Given the description of an element on the screen output the (x, y) to click on. 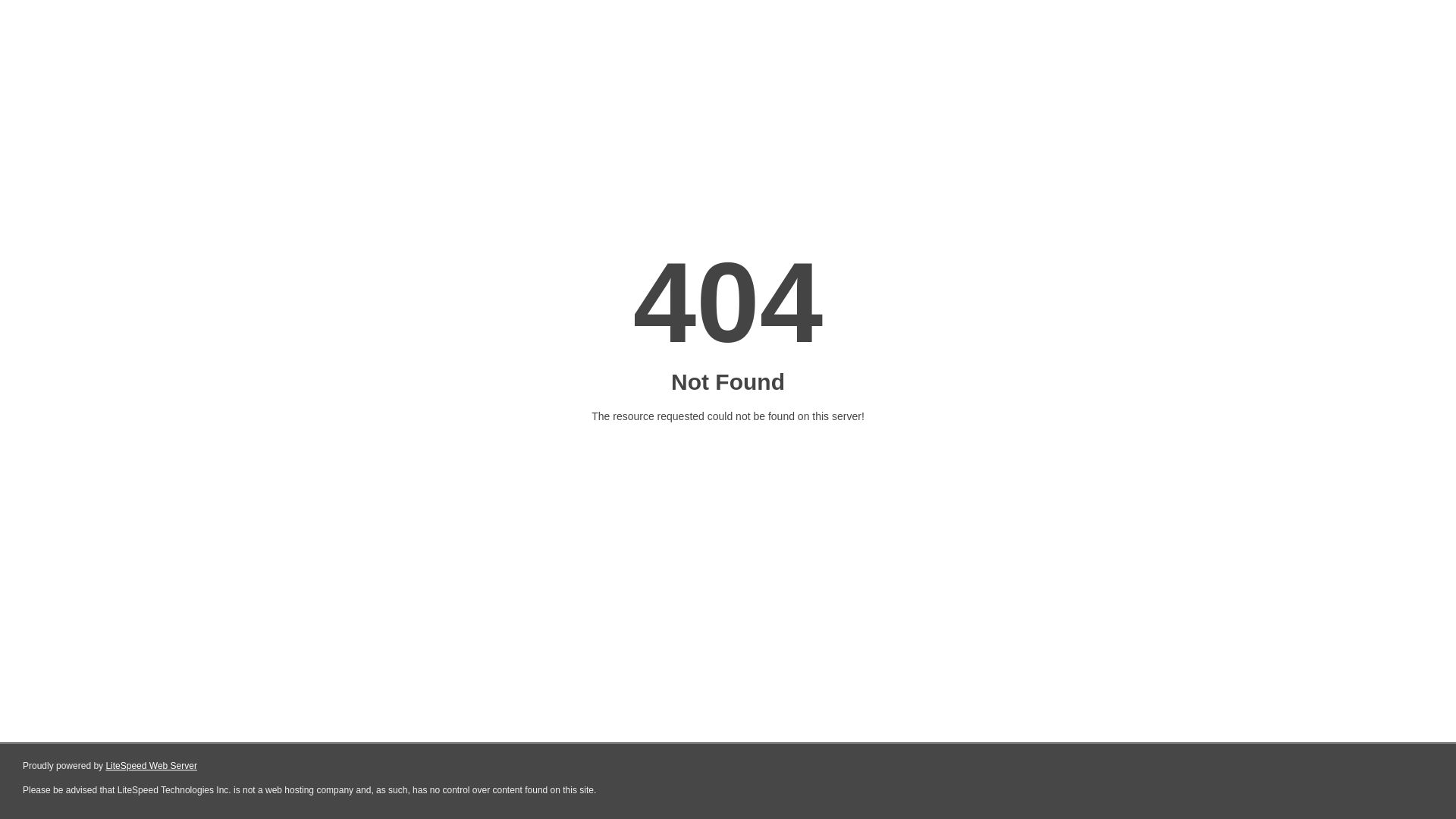
LiteSpeed Web Server Element type: text (151, 765)
